Given the description of an element on the screen output the (x, y) to click on. 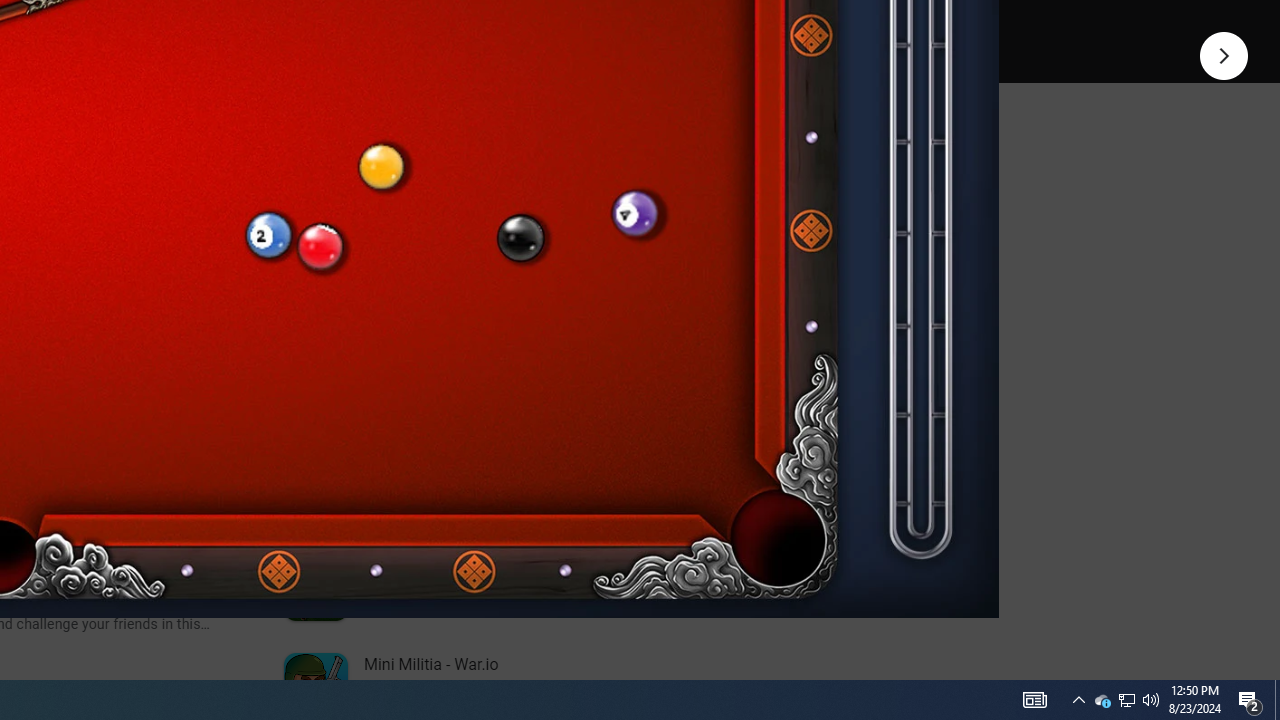
See more information on More by Miniclip.com (530, 229)
Play trailer (587, 24)
Expand (441, 155)
Next (1224, 54)
Scroll Next (212, 272)
